Given the description of an element on the screen output the (x, y) to click on. 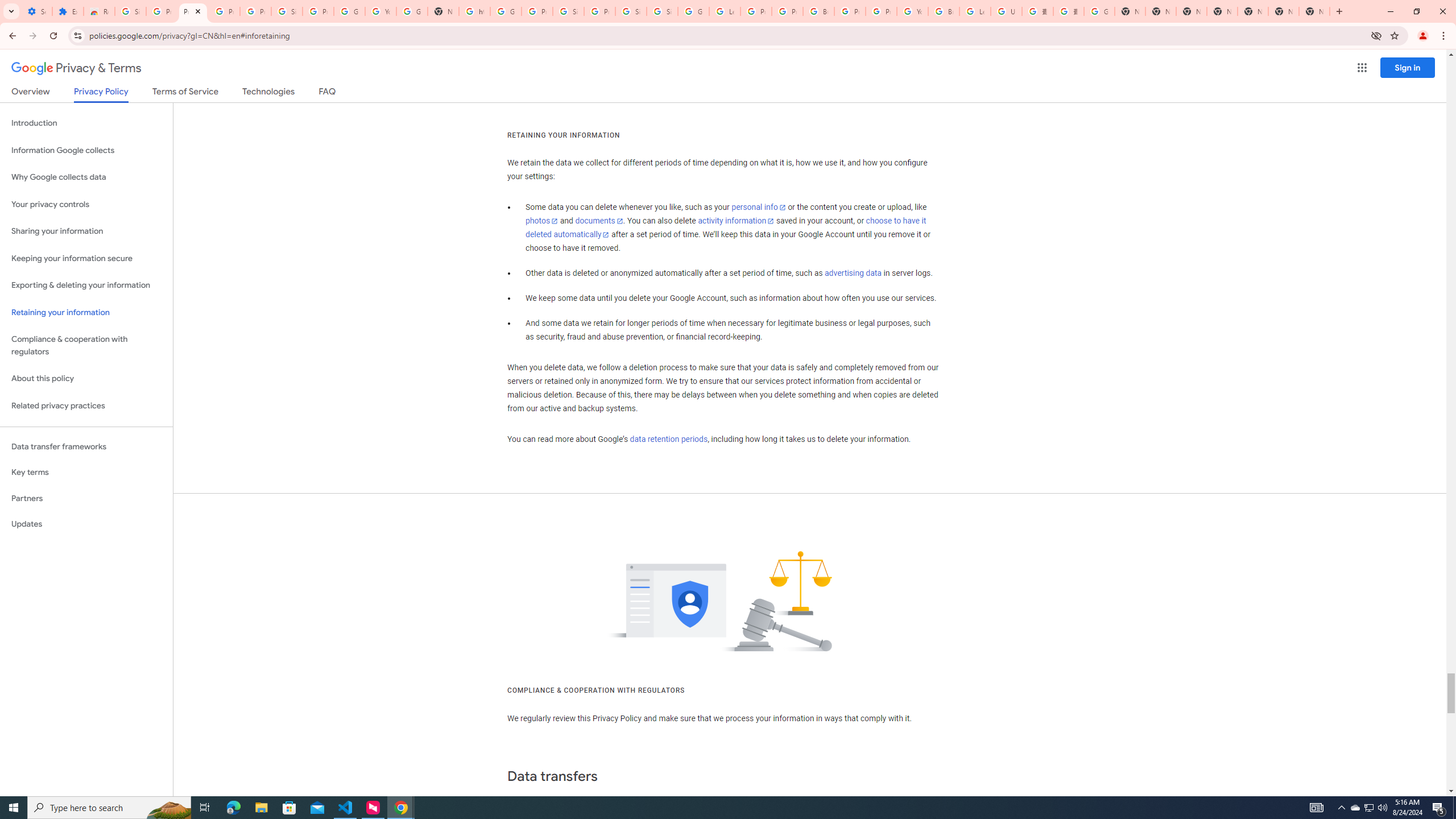
photos (542, 221)
activity information (735, 221)
About this policy (86, 379)
data retention periods (667, 439)
choose to have it deleted automatically (725, 227)
Updates (86, 524)
Keeping your information secure (86, 258)
Sign in - Google Accounts (662, 11)
personal info (758, 207)
